Given the description of an element on the screen output the (x, y) to click on. 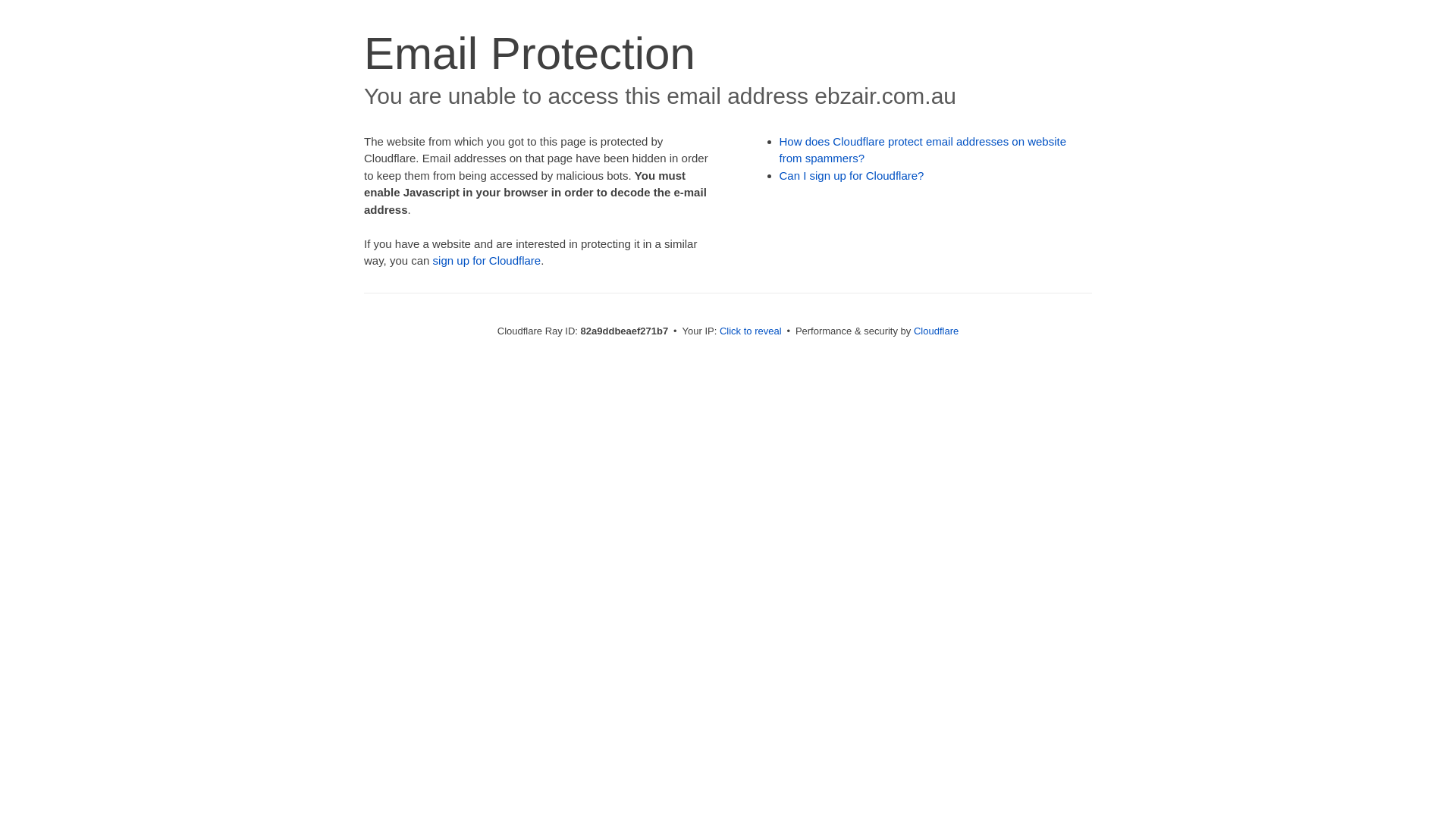
sign up for Cloudflare Element type: text (487, 260)
Cloudflare Element type: text (935, 330)
Click to reveal Element type: text (750, 330)
Can I sign up for Cloudflare? Element type: text (851, 175)
